Given the description of an element on the screen output the (x, y) to click on. 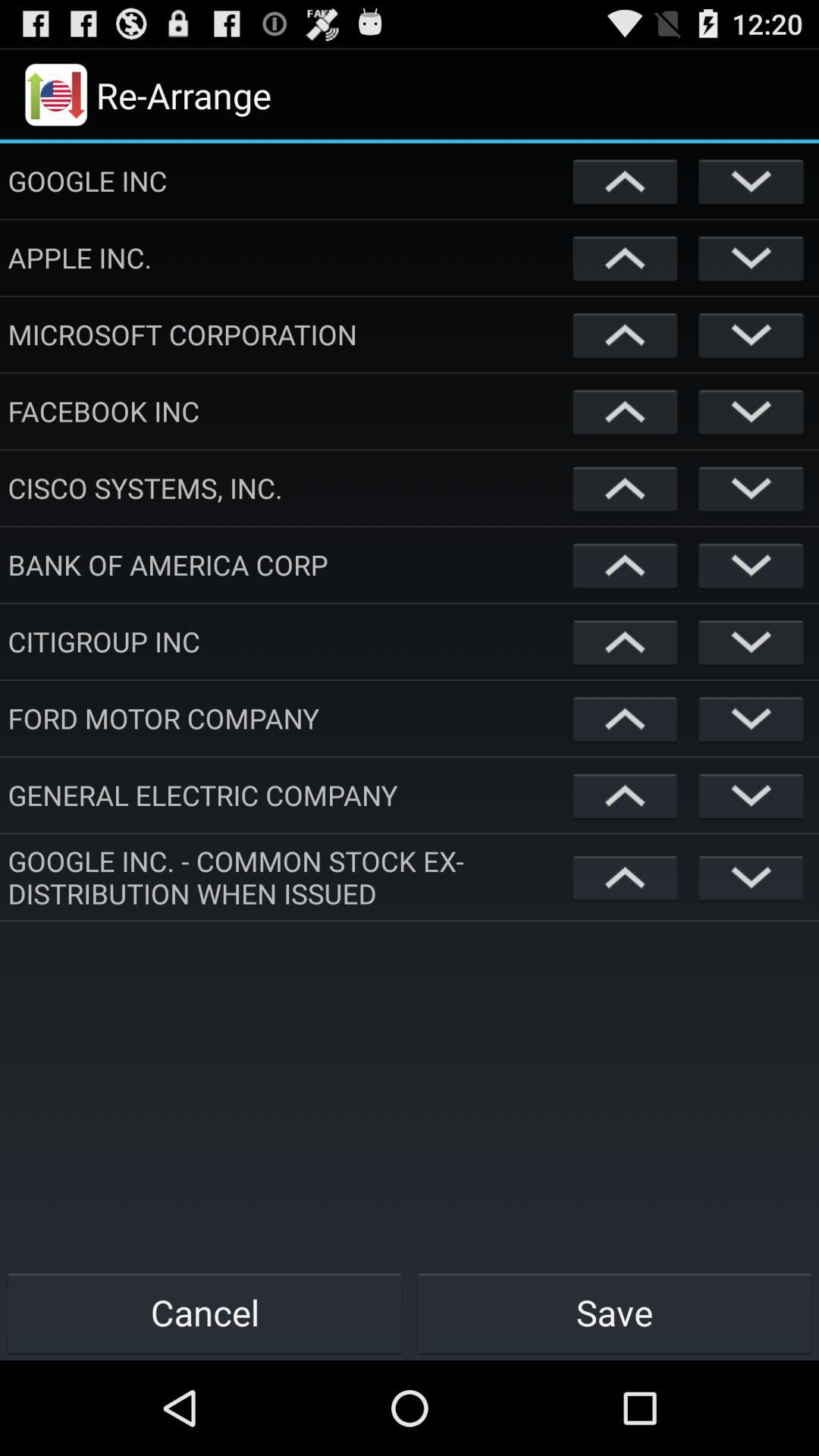
raise on the list (624, 411)
